Given the description of an element on the screen output the (x, y) to click on. 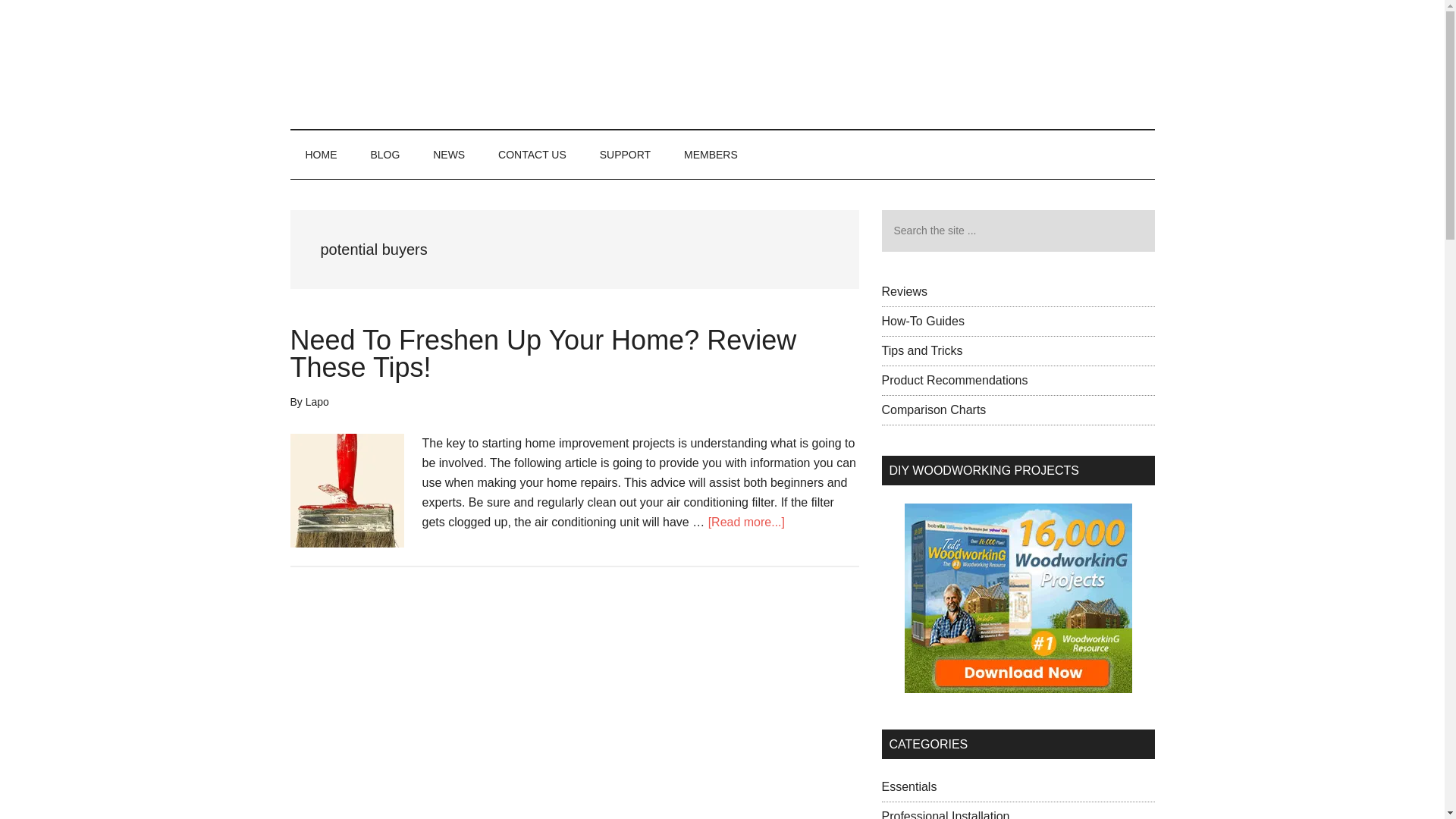
Professional Installation (944, 814)
Comparison Charts (932, 409)
How-To Guides (921, 320)
NEWS (448, 154)
Essentials (908, 786)
SUPPORT (625, 154)
